Given the description of an element on the screen output the (x, y) to click on. 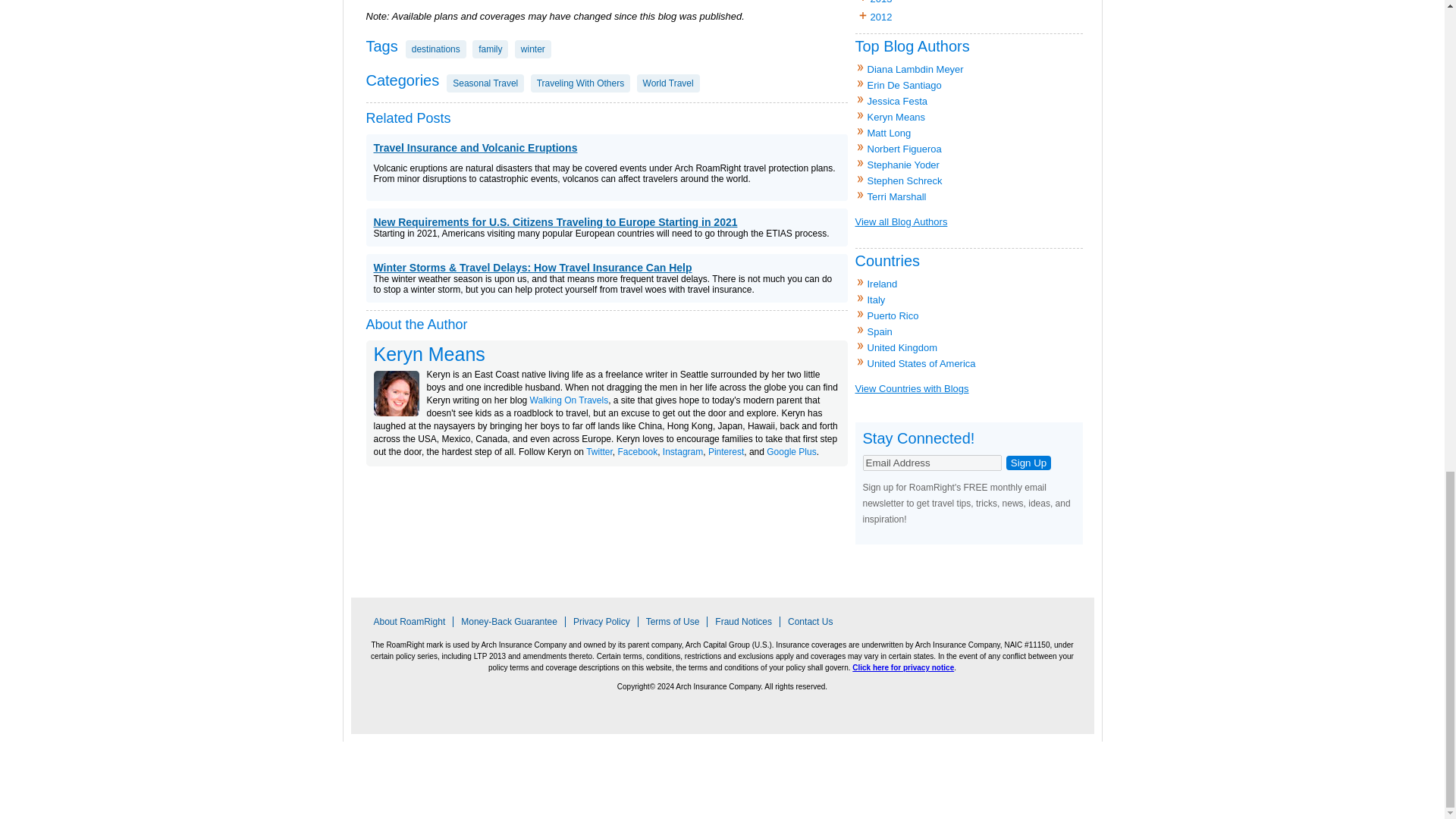
World Travel (668, 83)
Pinterest  (725, 451)
Facebook (637, 451)
Email Address (932, 462)
Instagram (682, 451)
Walking On Travels (568, 399)
Facebook (637, 451)
Instagram (682, 451)
Keryn Means (428, 353)
Traveling With Others (580, 83)
